Given the description of an element on the screen output the (x, y) to click on. 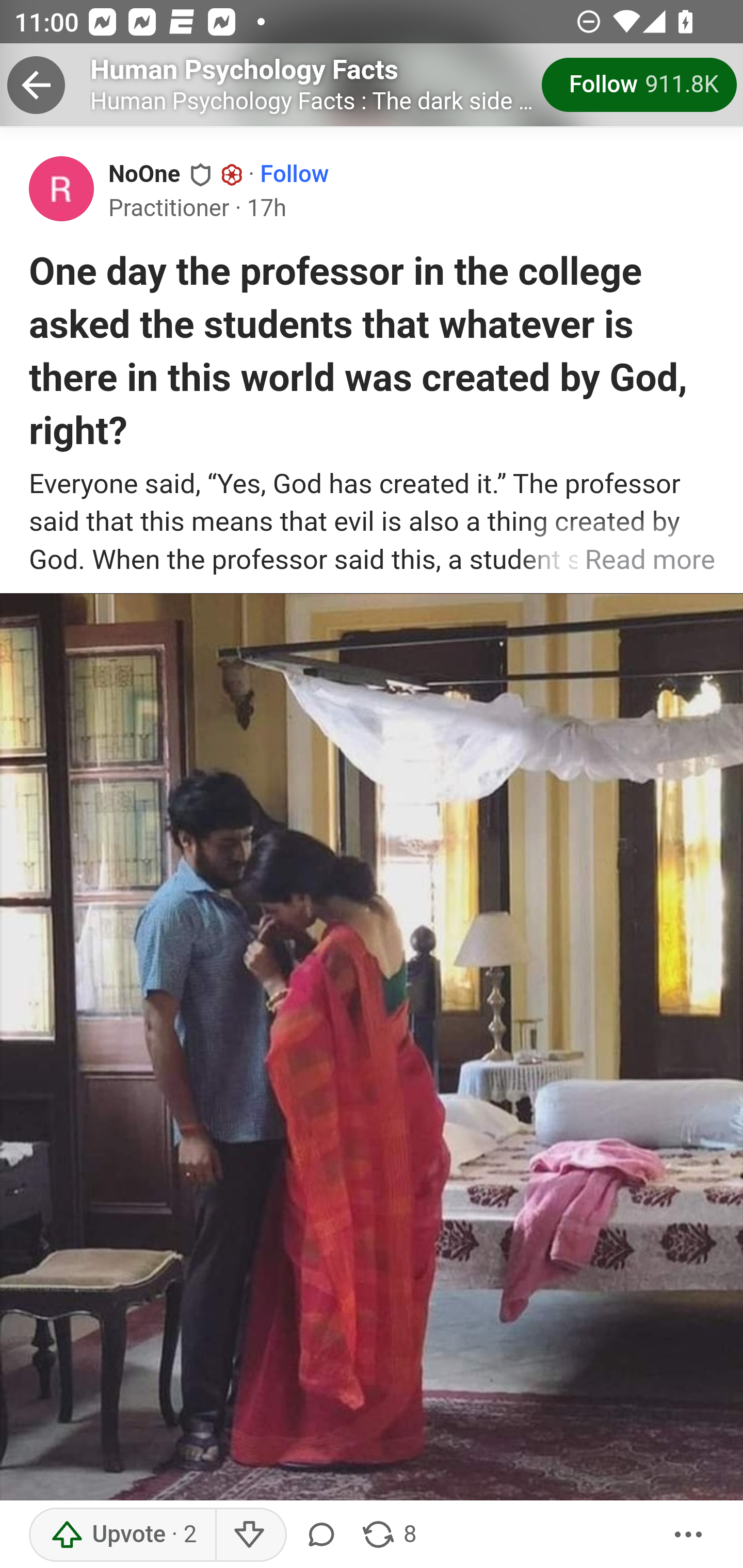
Human Psychology Facts (244, 68)
Follow 911.8K (639, 85)
Profile photo for NoOne (61, 188)
NoOne NoOne     Space subscriber (175, 173)
Follow (294, 174)
Space subscriber (231, 175)
Upvote (122, 1534)
Downvote (249, 1534)
Comment (324, 1534)
8 shares (387, 1534)
More (688, 1534)
